Given the description of an element on the screen output the (x, y) to click on. 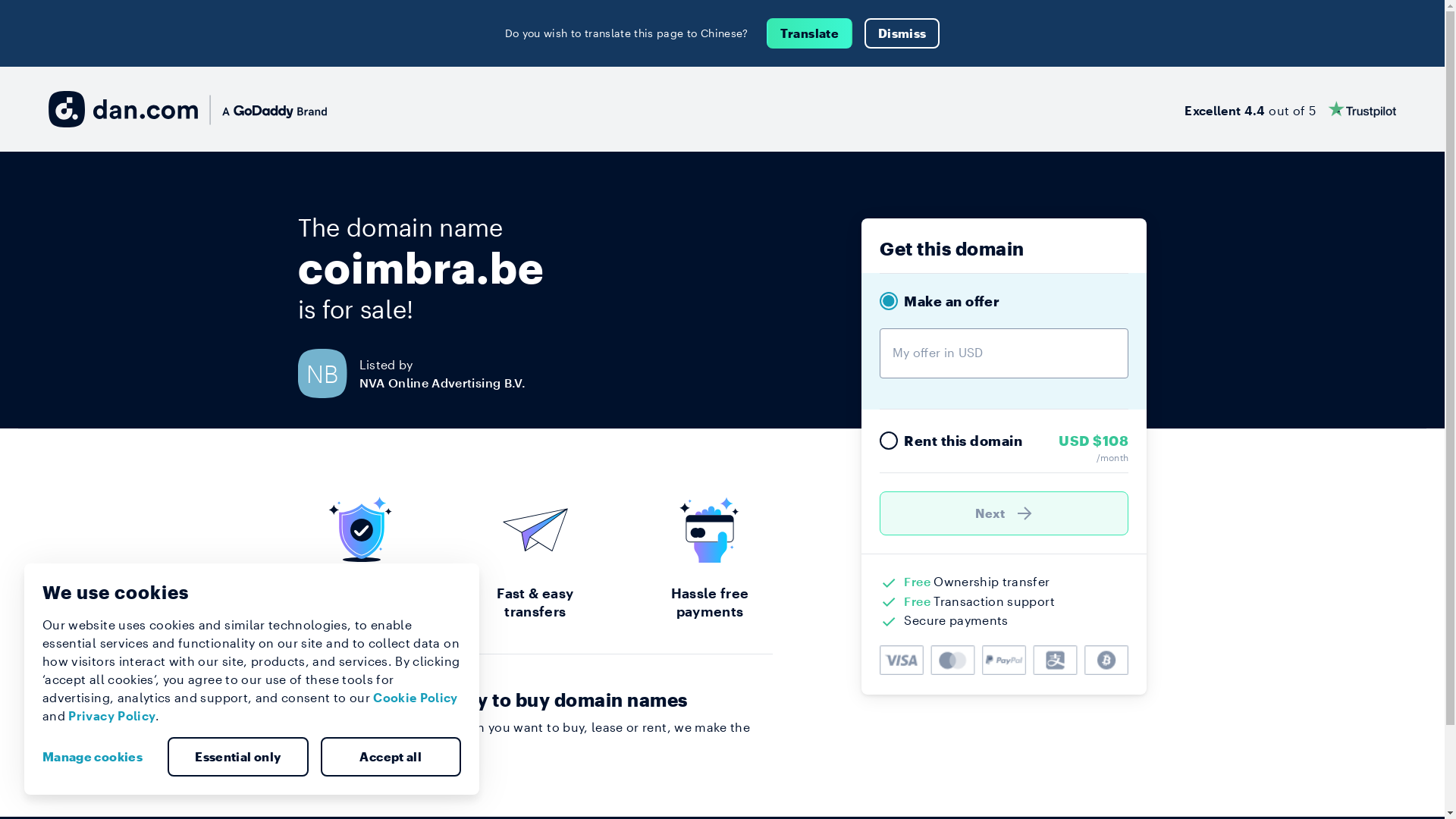
Translate Element type: text (809, 33)
Privacy Policy Element type: text (111, 715)
Cookie Policy Element type: text (415, 697)
Essential only Element type: text (237, 756)
Excellent 4.4 out of 5 Element type: text (1290, 109)
Manage cookies Element type: text (98, 756)
Next
) Element type: text (1003, 513)
Dismiss Element type: text (901, 33)
Accept all Element type: text (390, 756)
